Given the description of an element on the screen output the (x, y) to click on. 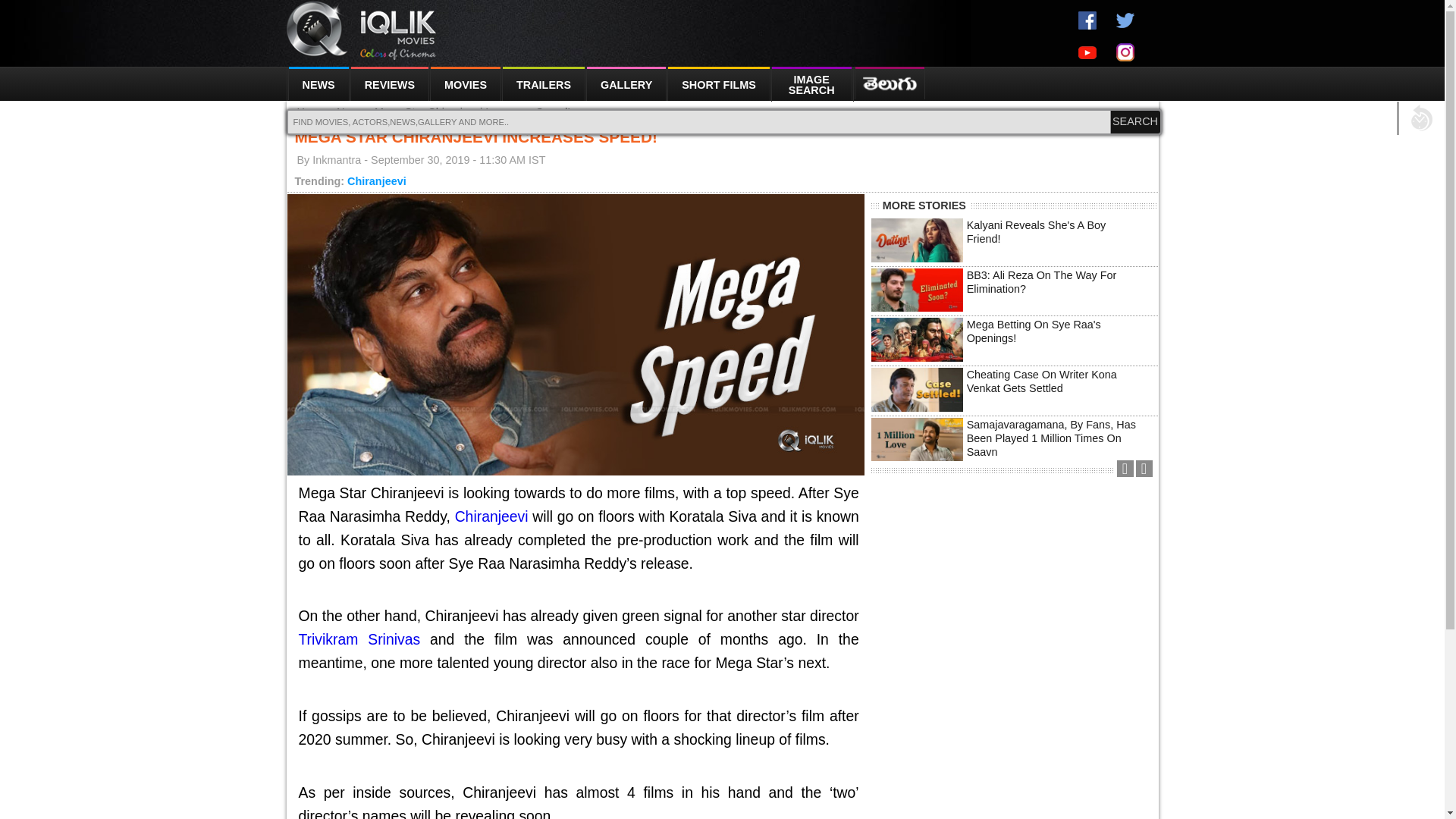
MOVIES (465, 83)
REVIEWS (389, 83)
iQlik - Home (361, 30)
Previous (1124, 468)
TRAILERS (543, 83)
NEWS (316, 83)
Next (1144, 468)
GALLERY (625, 83)
